Given the description of an element on the screen output the (x, y) to click on. 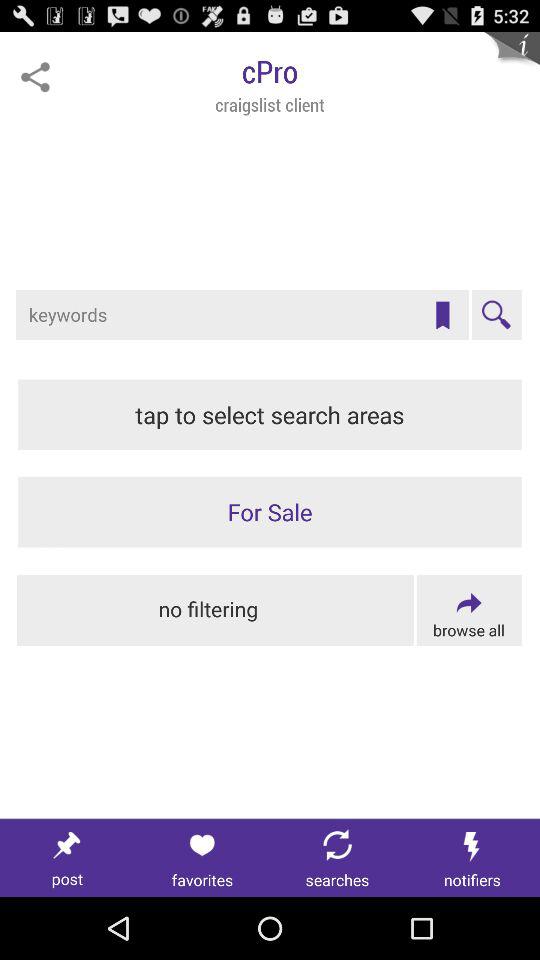
for sale button (269, 511)
